Given the description of an element on the screen output the (x, y) to click on. 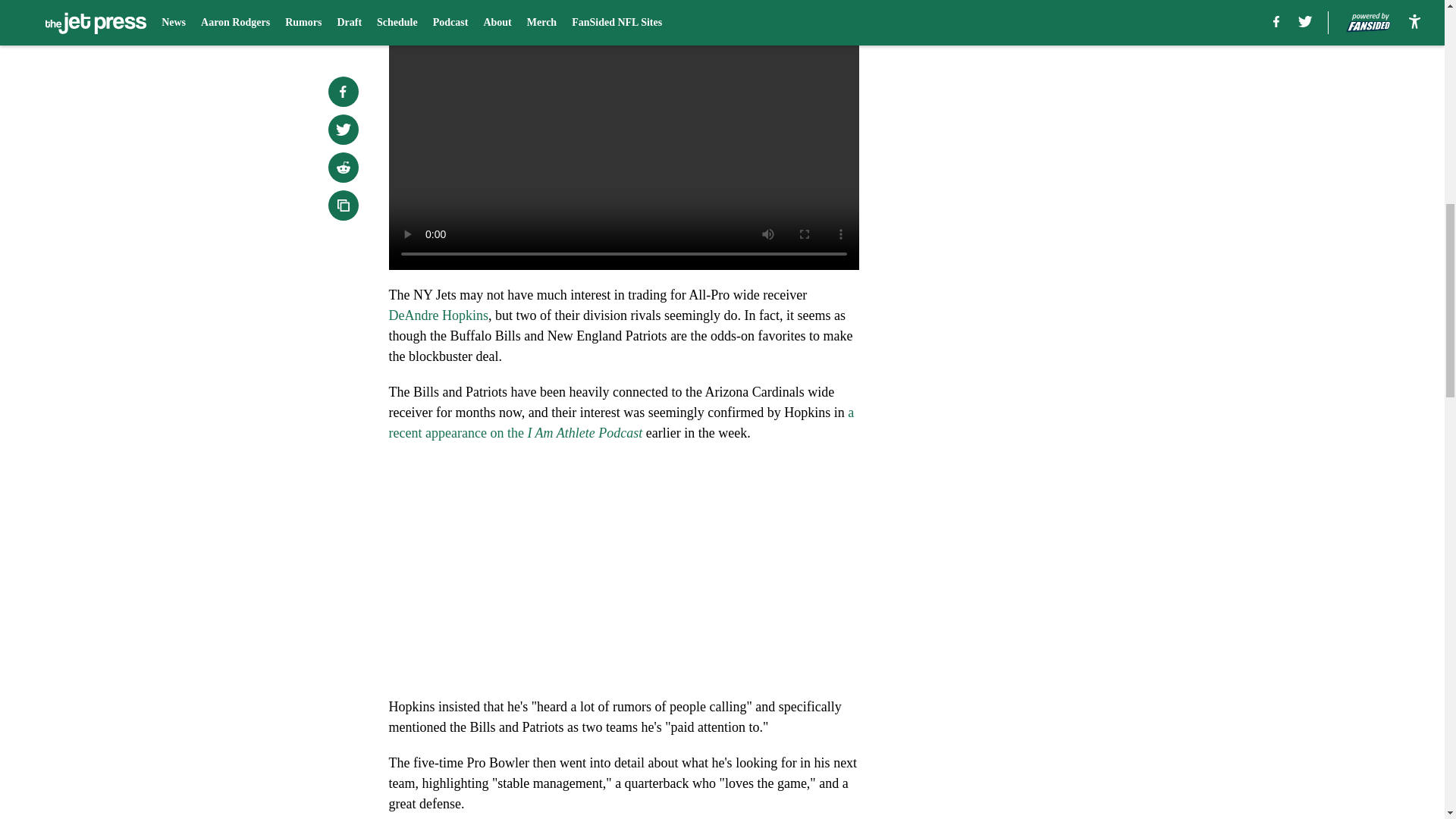
a recent appearance on the I Am Athlete Podcast (620, 422)
3rd party ad content (1047, 100)
DeAndre Hopkins (437, 314)
3rd party ad content (1047, 320)
